Given the description of an element on the screen output the (x, y) to click on. 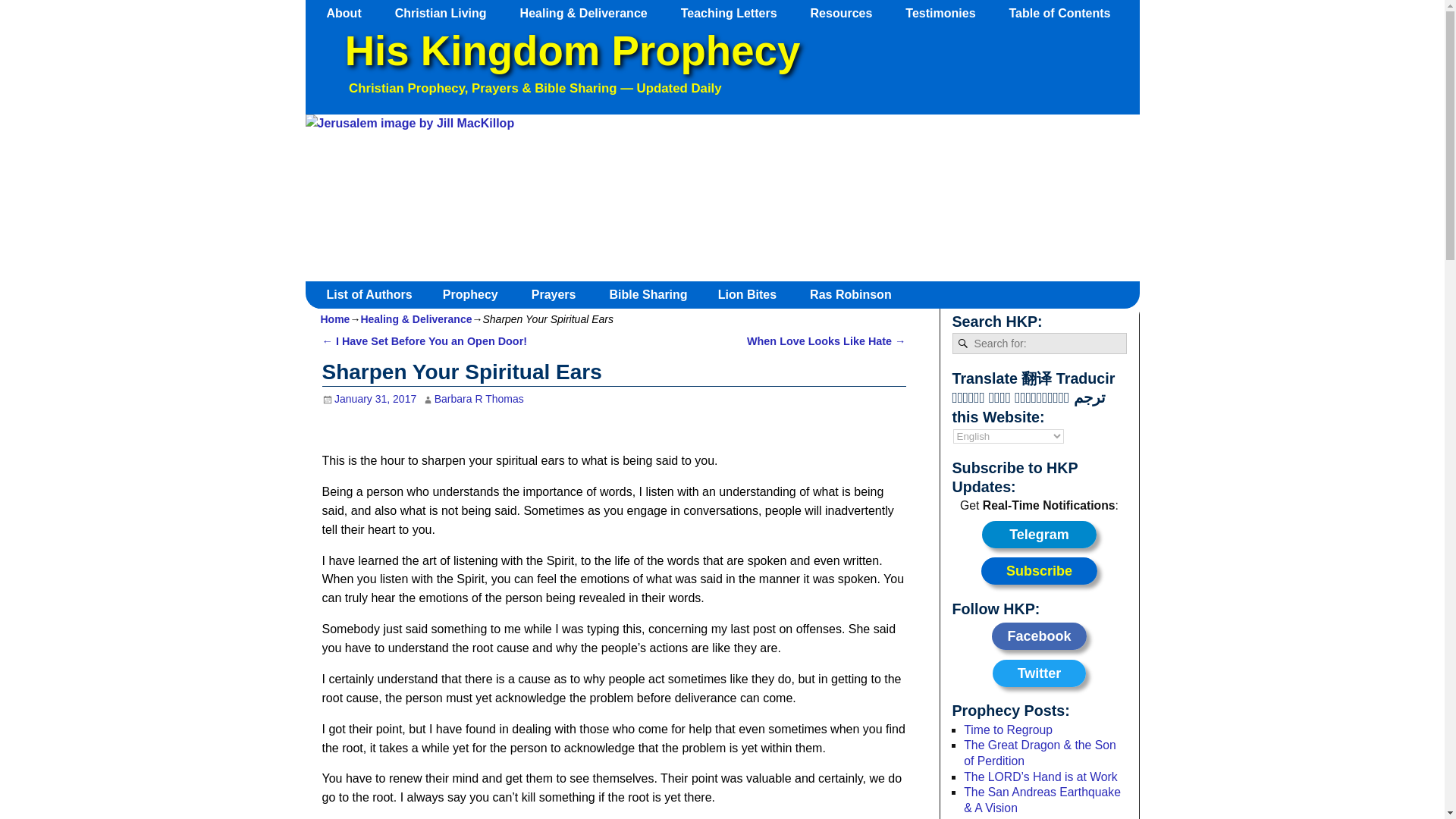
His Kingdom Prophecy (571, 50)
List of Authors (374, 294)
Testimonies (947, 13)
Teaching Letters (736, 13)
View all posts by Barbara R Thomas (478, 398)
His Kingdom Prophecy (571, 50)
Christian Living (448, 13)
Resources (849, 13)
Table of Contents (1066, 13)
7:30 pm (368, 398)
About (351, 13)
